Given the description of an element on the screen output the (x, y) to click on. 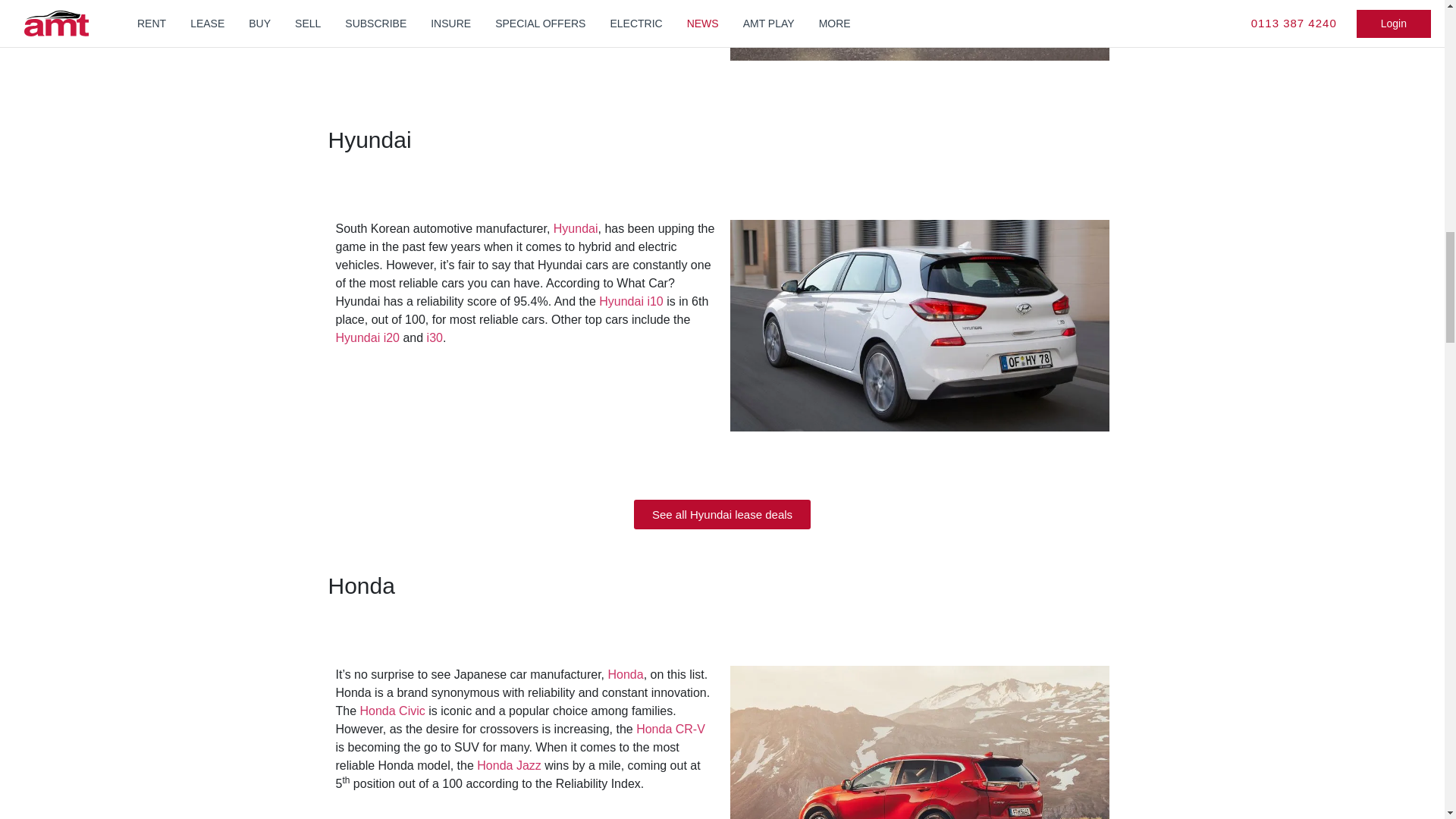
Honda (625, 674)
Honda Civic (392, 710)
Honda Jazz (509, 765)
Honda CR-V (670, 728)
See all Hyundai lease deals (721, 514)
i30 (434, 337)
Hyundai i20 (366, 337)
Hyundai i10 (630, 300)
Hyundai (575, 228)
